Given the description of an element on the screen output the (x, y) to click on. 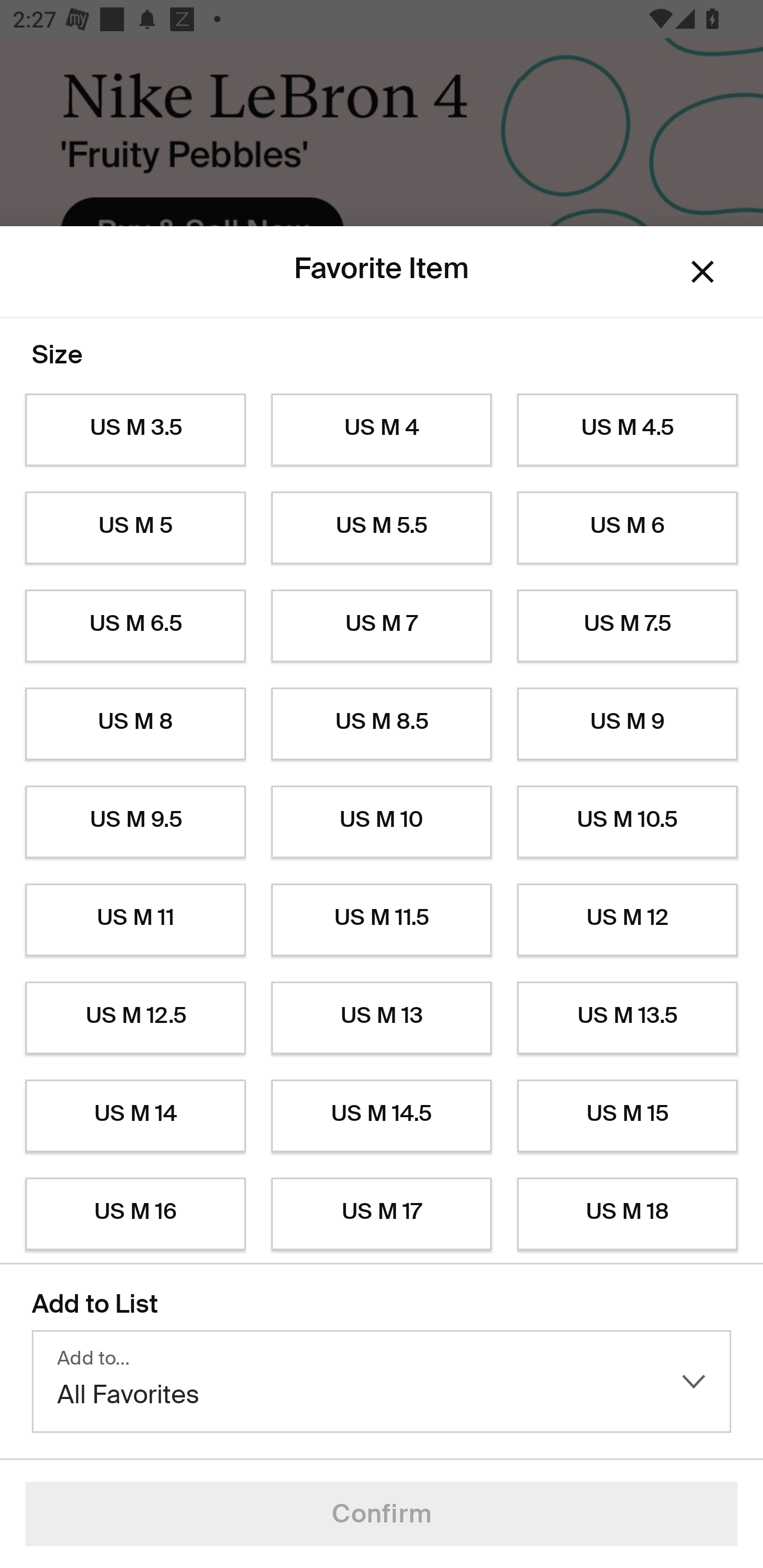
Dismiss (702, 271)
US M 3.5 (135, 430)
US M 4 (381, 430)
US M 4.5 (627, 430)
US M 5 (135, 527)
US M 5.5 (381, 527)
US M 6 (627, 527)
US M 6.5 (135, 626)
US M 7 (381, 626)
US M 7.5 (627, 626)
US M 8 (135, 724)
US M 8.5 (381, 724)
US M 9 (627, 724)
US M 9.5 (135, 822)
US M 10 (381, 822)
US M 10.5 (627, 822)
US M 11 (135, 919)
US M 11.5 (381, 919)
US M 12 (627, 919)
US M 12.5 (135, 1018)
US M 13 (381, 1018)
US M 13.5 (627, 1018)
US M 14 (135, 1116)
US M 14.5 (381, 1116)
US M 15 (627, 1116)
US M 16 (135, 1214)
US M 17 (381, 1214)
US M 18 (627, 1214)
Add to… All Favorites (381, 1381)
Confirm (381, 1513)
